Given the description of an element on the screen output the (x, y) to click on. 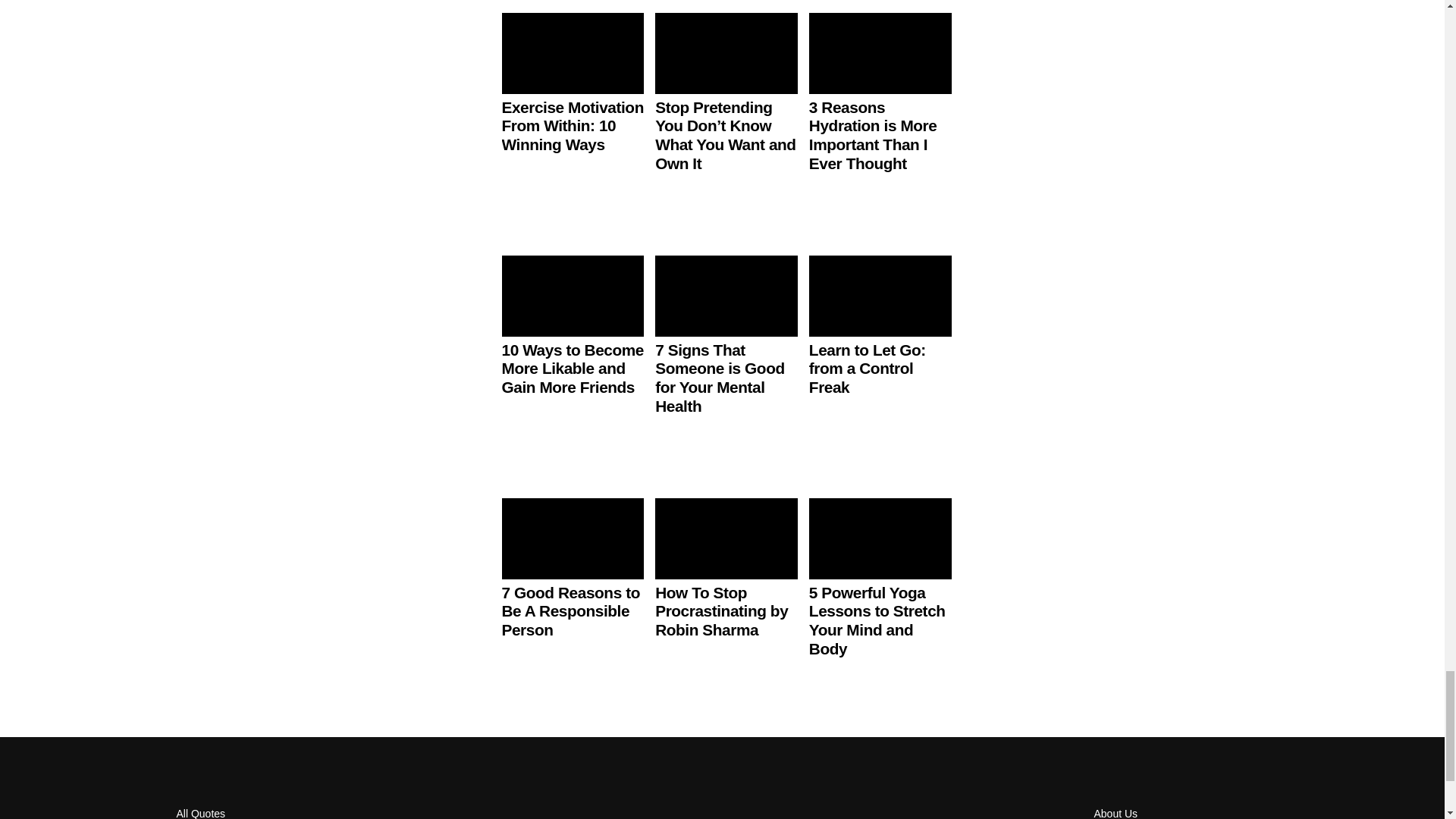
3 Reasons Hydration is More Important Than I Ever Thought (873, 135)
10 Ways to Become More Likable and Gain More Friends (573, 368)
Exercise Motivation From Within: 10 Winning Ways (572, 125)
Learn to Let Go: from a Control Freak (867, 368)
7 Signs That Someone is Good for Your Mental Health (719, 378)
